Given the description of an element on the screen output the (x, y) to click on. 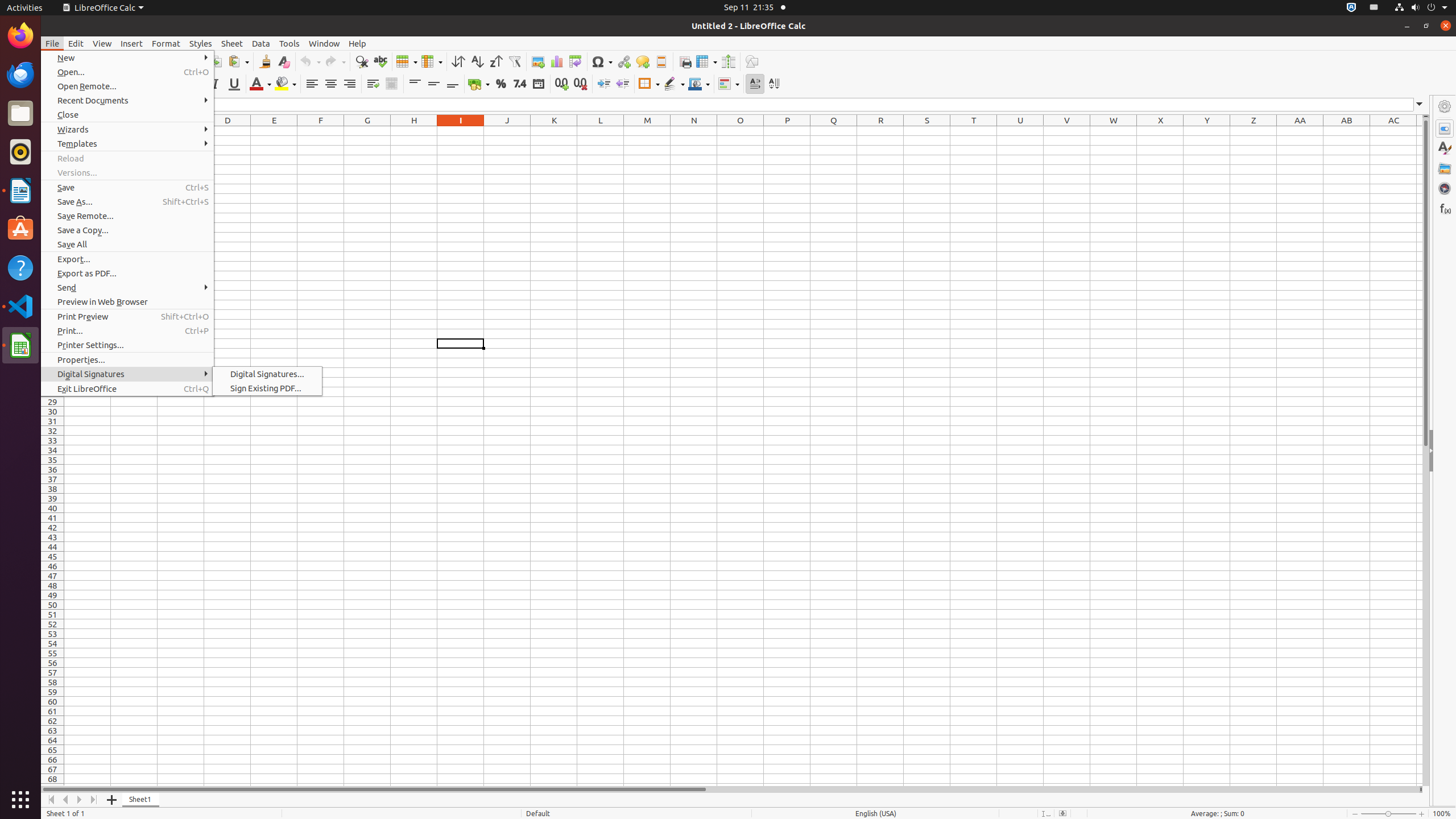
Decrease Element type: push-button (622, 83)
Format Element type: menu (165, 43)
Redo Element type: push-button (334, 61)
Print Area Element type: push-button (684, 61)
Sort Element type: push-button (457, 61)
